Given the description of an element on the screen output the (x, y) to click on. 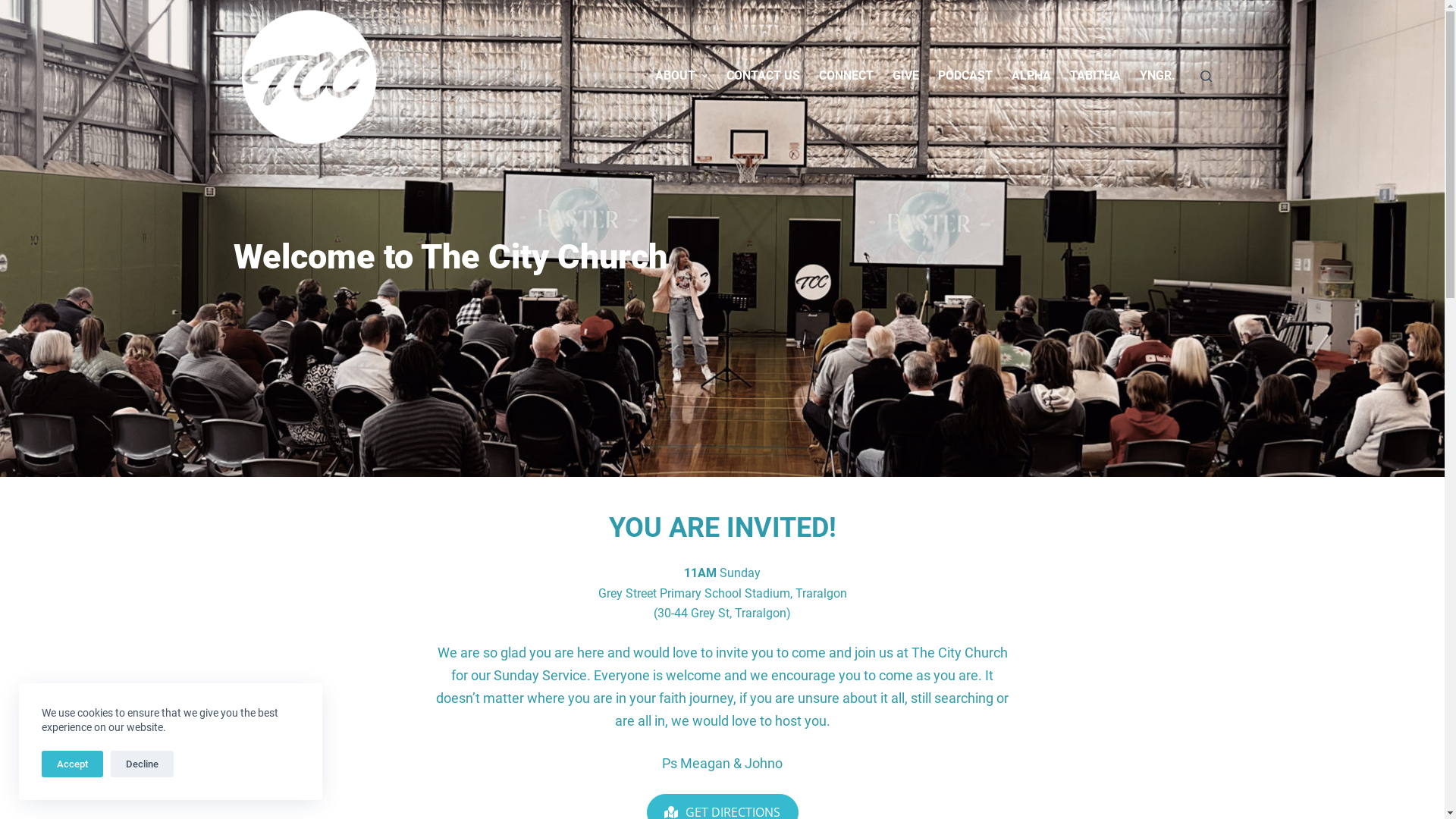
Privacy Policy Element type: text (270, 694)
ALPHA Element type: text (1031, 75)
TABITHA Element type: text (1094, 75)
CONNECT Element type: text (846, 75)
ABOUT Element type: text (680, 75)
INSTAGRAM Element type: text (1167, 664)
Skip to content Element type: text (15, 7)
PODCAST Element type: text (964, 75)
Accept Element type: text (72, 763)
YNGR. Element type: text (1156, 75)
Connect with TCC Element type: text (281, 673)
GIVE Element type: text (905, 75)
CONTACT US Element type: text (763, 75)
Give Element type: text (245, 653)
FACEBOOK Element type: text (1070, 664)
Decline Element type: text (141, 763)
